Given the description of an element on the screen output the (x, y) to click on. 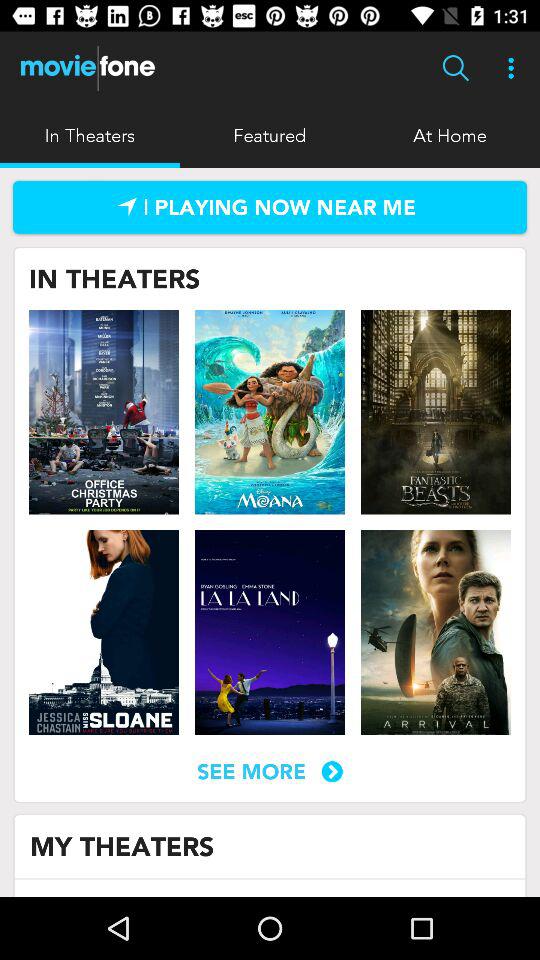
selects the item in box (270, 632)
